Given the description of an element on the screen output the (x, y) to click on. 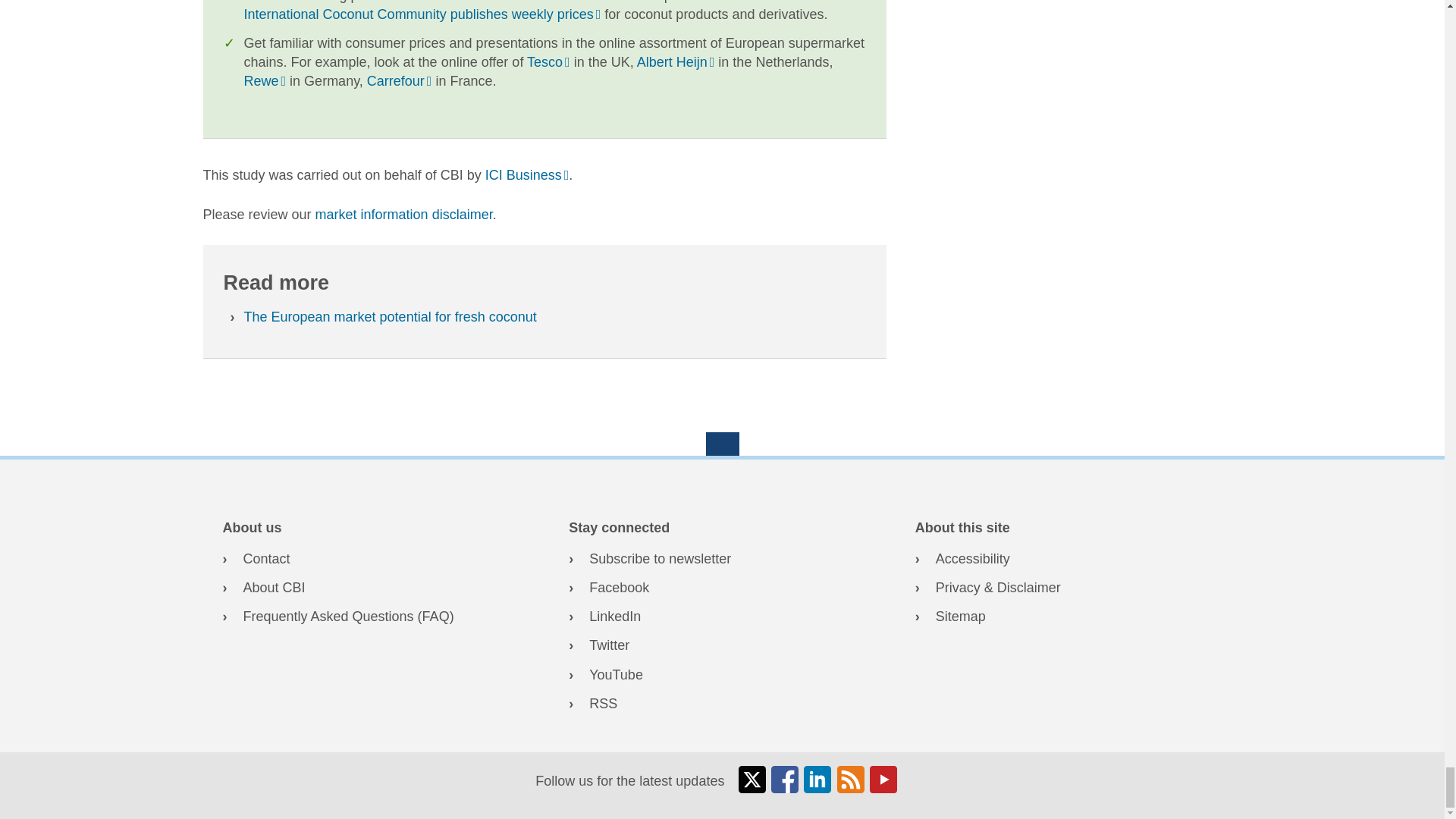
Go to CBI's LinkedIn channel (722, 616)
Go to CBI's YouTube channel (722, 674)
Go to CBI's Twitter channel (722, 645)
Go to CBI's Facebook channel (722, 587)
